Given the description of an element on the screen output the (x, y) to click on. 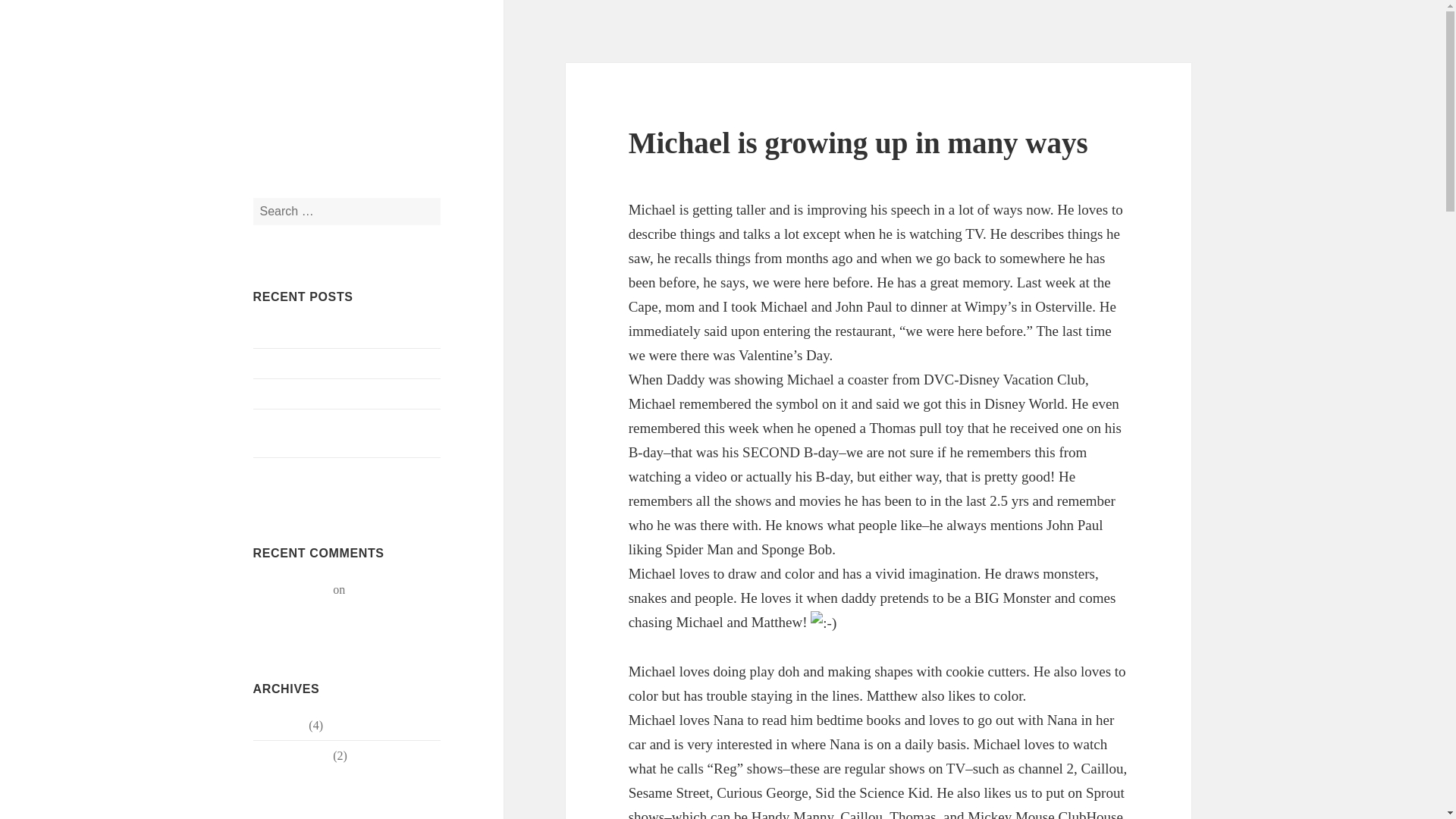
Noel Frascatore (291, 589)
Michael is growing up in many ways (325, 598)
December 2008 (291, 755)
Matthew likes books a lot now (328, 393)
Describing Matthew (302, 472)
Karen Frascatore's Blog (345, 86)
Michael is growing up in many ways (342, 363)
April 2009 (279, 725)
